Given the description of an element on the screen output the (x, y) to click on. 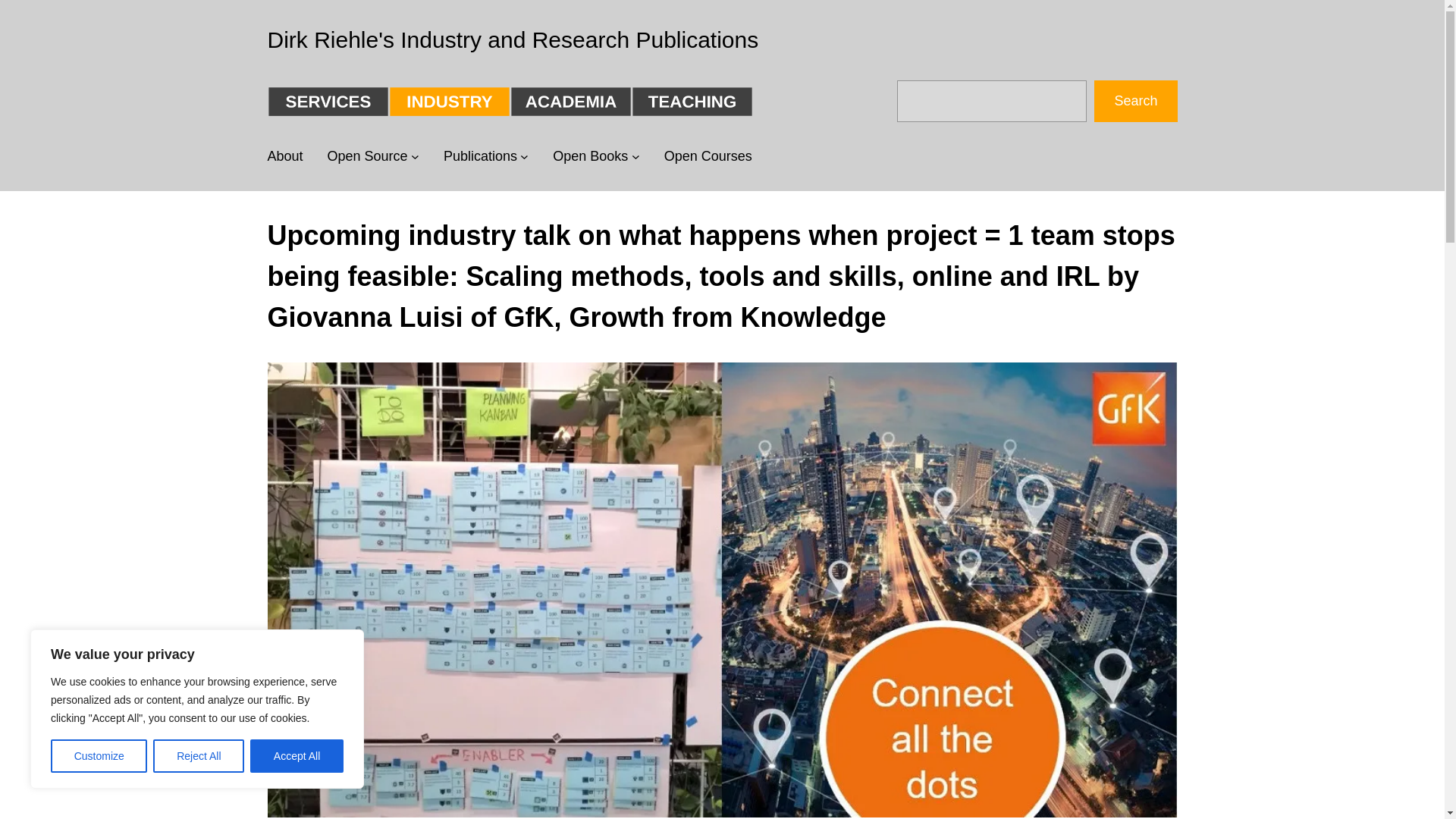
Accept All (296, 756)
Dirk Riehle's Industry and Research Publications (512, 39)
Publications (480, 156)
Customize (98, 756)
About (284, 156)
Reject All (198, 756)
Search (1135, 101)
Open Source (367, 156)
